Given the description of an element on the screen output the (x, y) to click on. 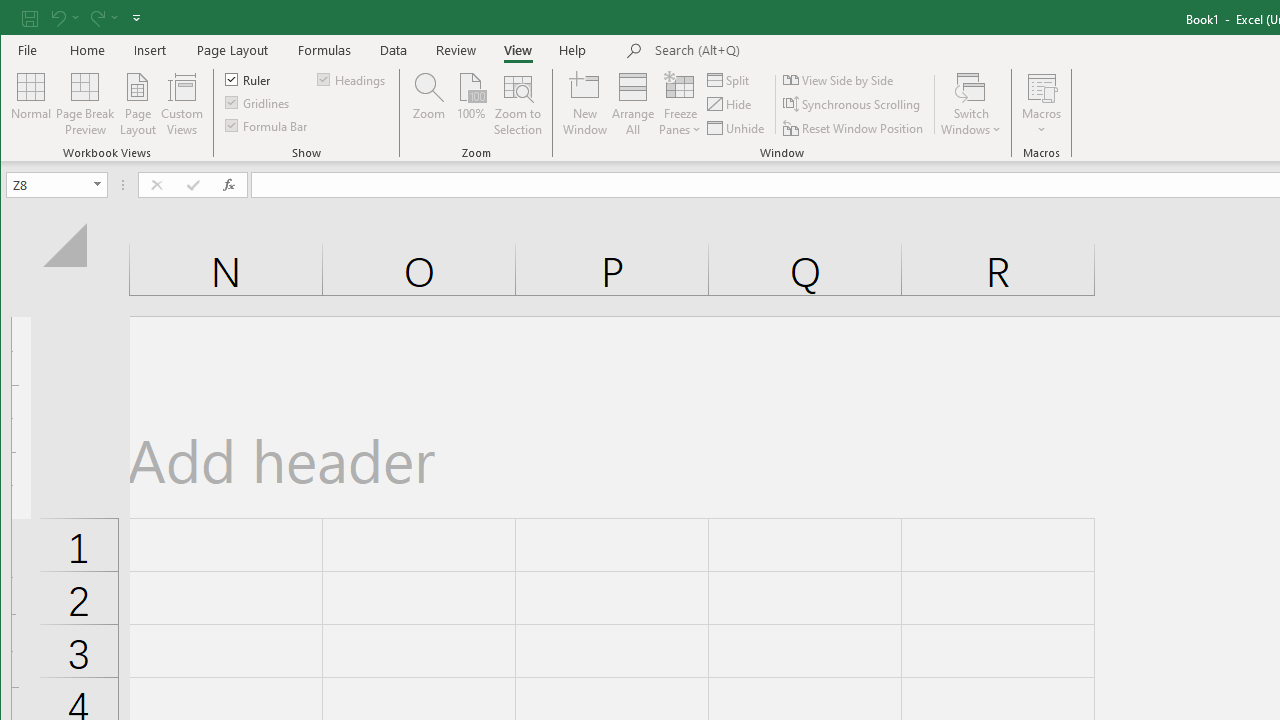
Switch Windows (971, 104)
Zoom... (429, 104)
View Macros (1041, 86)
Split (730, 80)
Gridlines (258, 101)
Arrange All (633, 104)
